Given the description of an element on the screen output the (x, y) to click on. 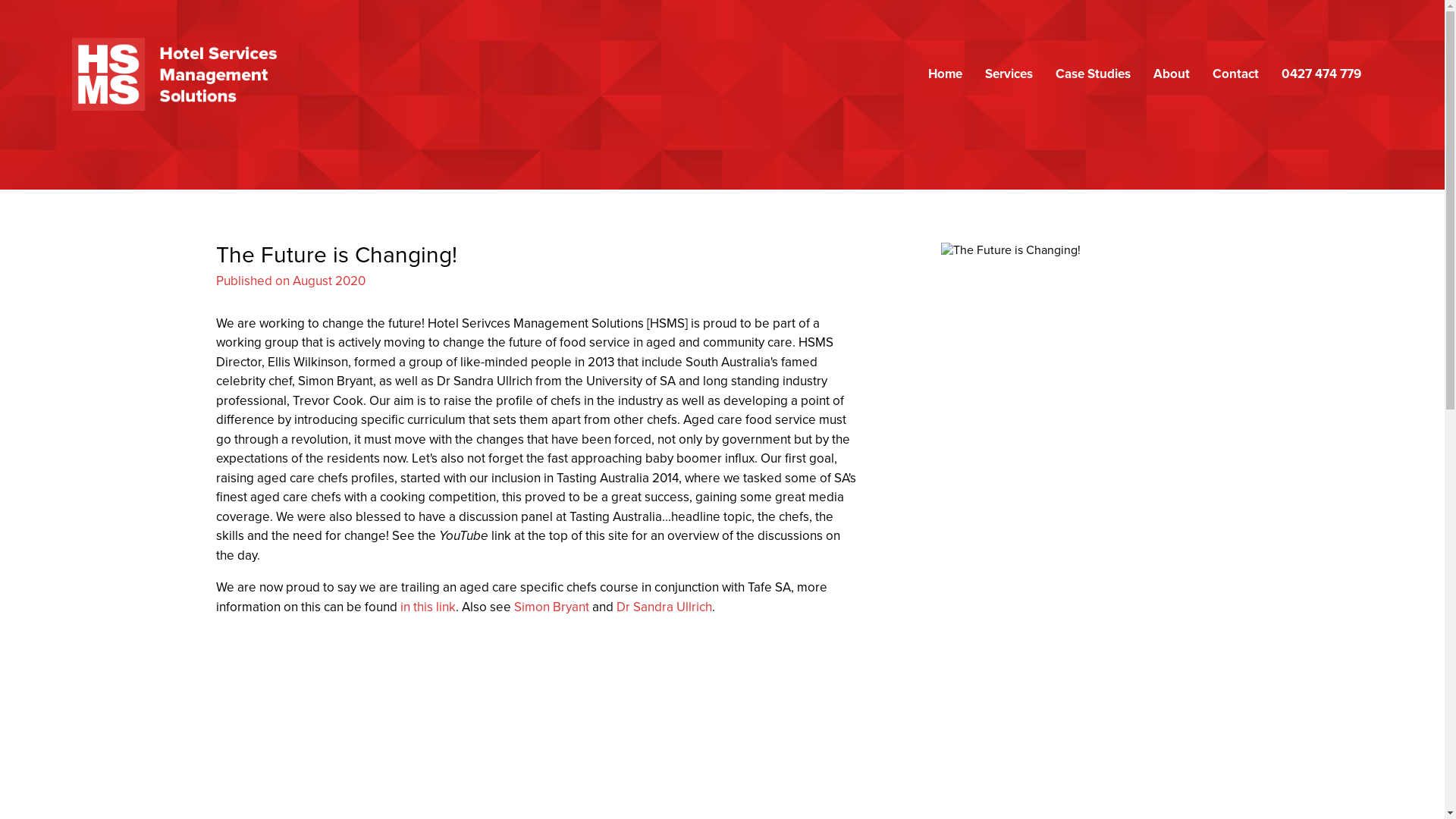
Dr Sandra Ullrich Element type: text (663, 607)
About Element type: text (1171, 73)
Contact Element type: text (1235, 73)
Home Element type: text (945, 73)
Case Studies Element type: text (1092, 73)
Simon Bryant Element type: text (551, 607)
in this link Element type: text (427, 607)
Services Element type: text (1008, 73)
0427 474 779 Element type: text (1321, 73)
